Given the description of an element on the screen output the (x, y) to click on. 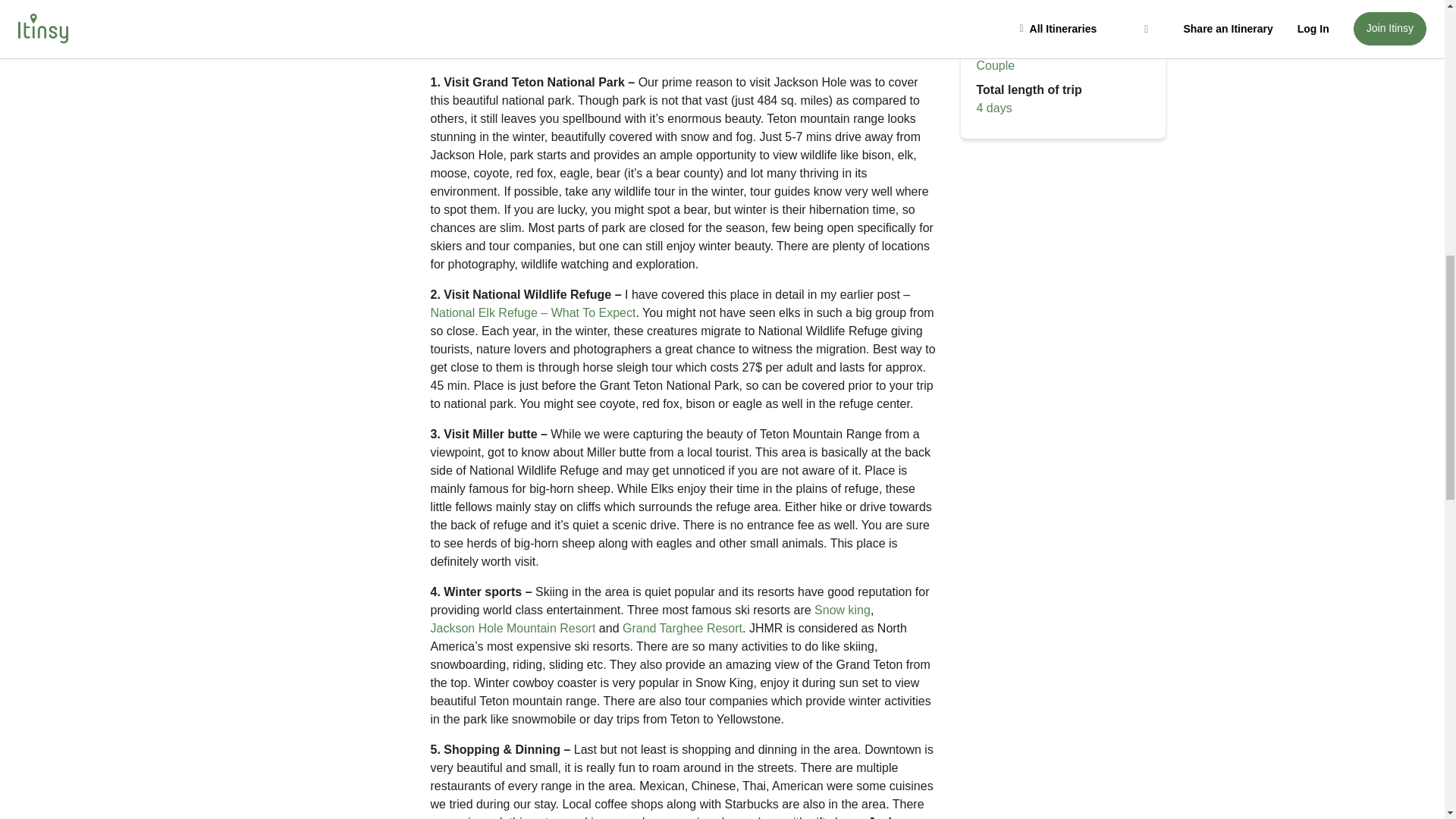
Jackson Hole Mountain Resort (512, 628)
Grand Targhee Resort (682, 628)
Snow king (841, 610)
